Given the description of an element on the screen output the (x, y) to click on. 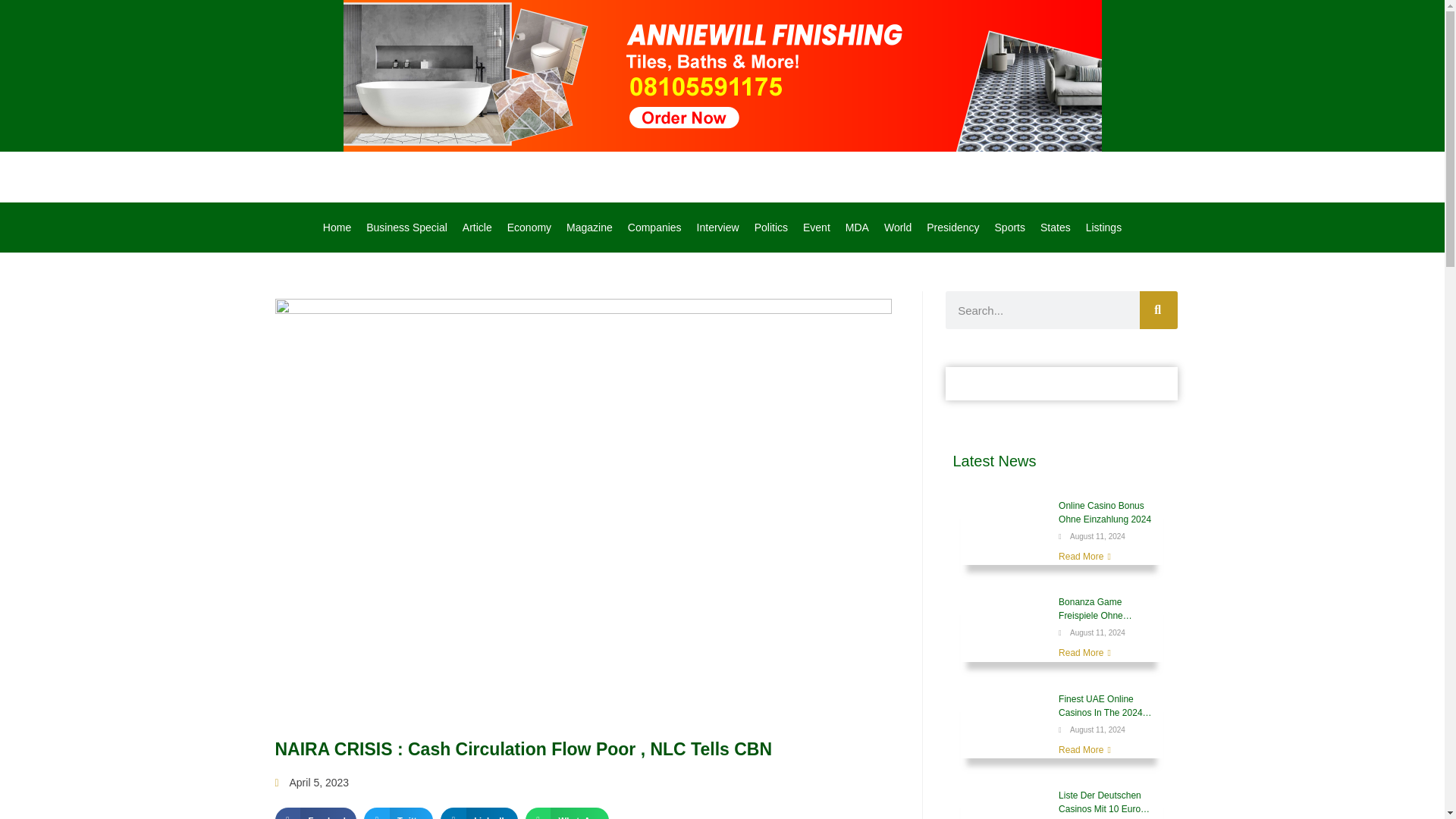
States (1055, 226)
Business Special (406, 226)
Home (336, 226)
Companies (654, 226)
Magazine (589, 226)
World (897, 226)
MDA (857, 226)
Economy (529, 226)
Listings (1103, 226)
Event (816, 226)
